Given the description of an element on the screen output the (x, y) to click on. 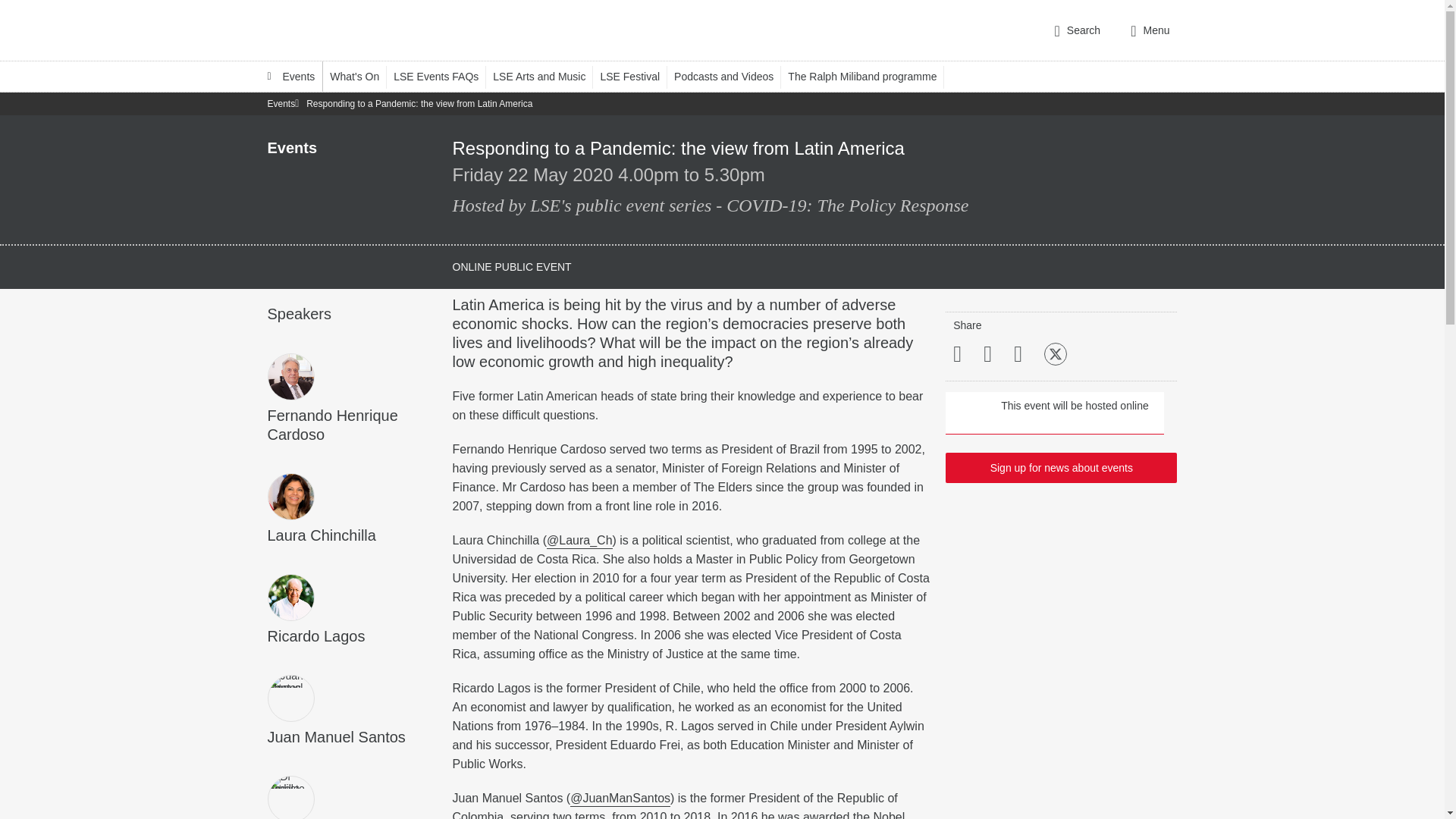
LSE Arts and Music (546, 76)
What's On (361, 76)
The Ralph Miliband Programme (868, 76)
Podcasts and Videos (730, 76)
LSE Events FAQ (443, 76)
LSE Arts and Music (546, 76)
What's on (361, 76)
LSE Festival (636, 76)
The Ralph Miliband programme (868, 76)
LSE Events FAQs (443, 76)
